Given the description of an element on the screen output the (x, y) to click on. 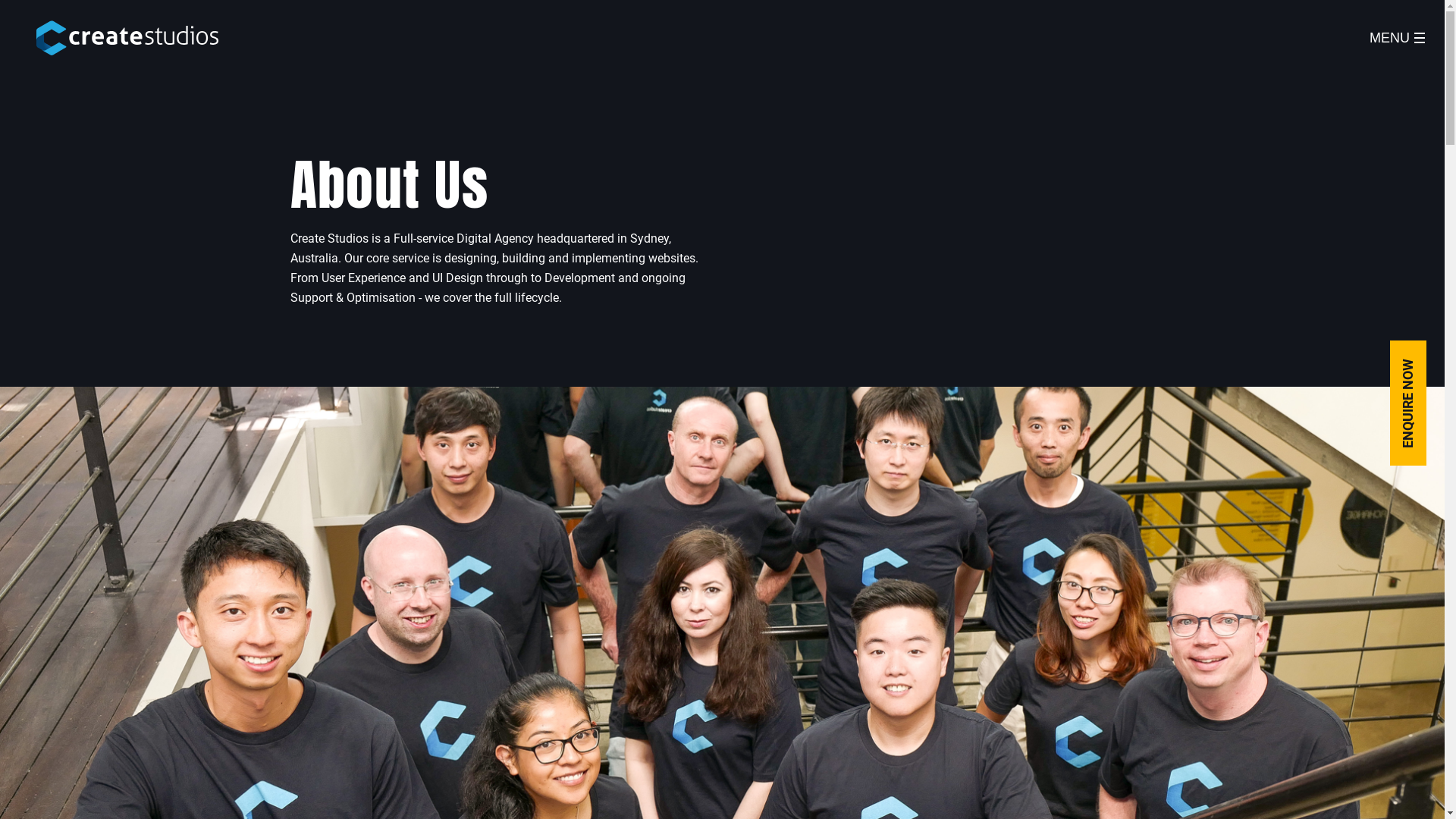
MENU Element type: text (1396, 37)
